Given the description of an element on the screen output the (x, y) to click on. 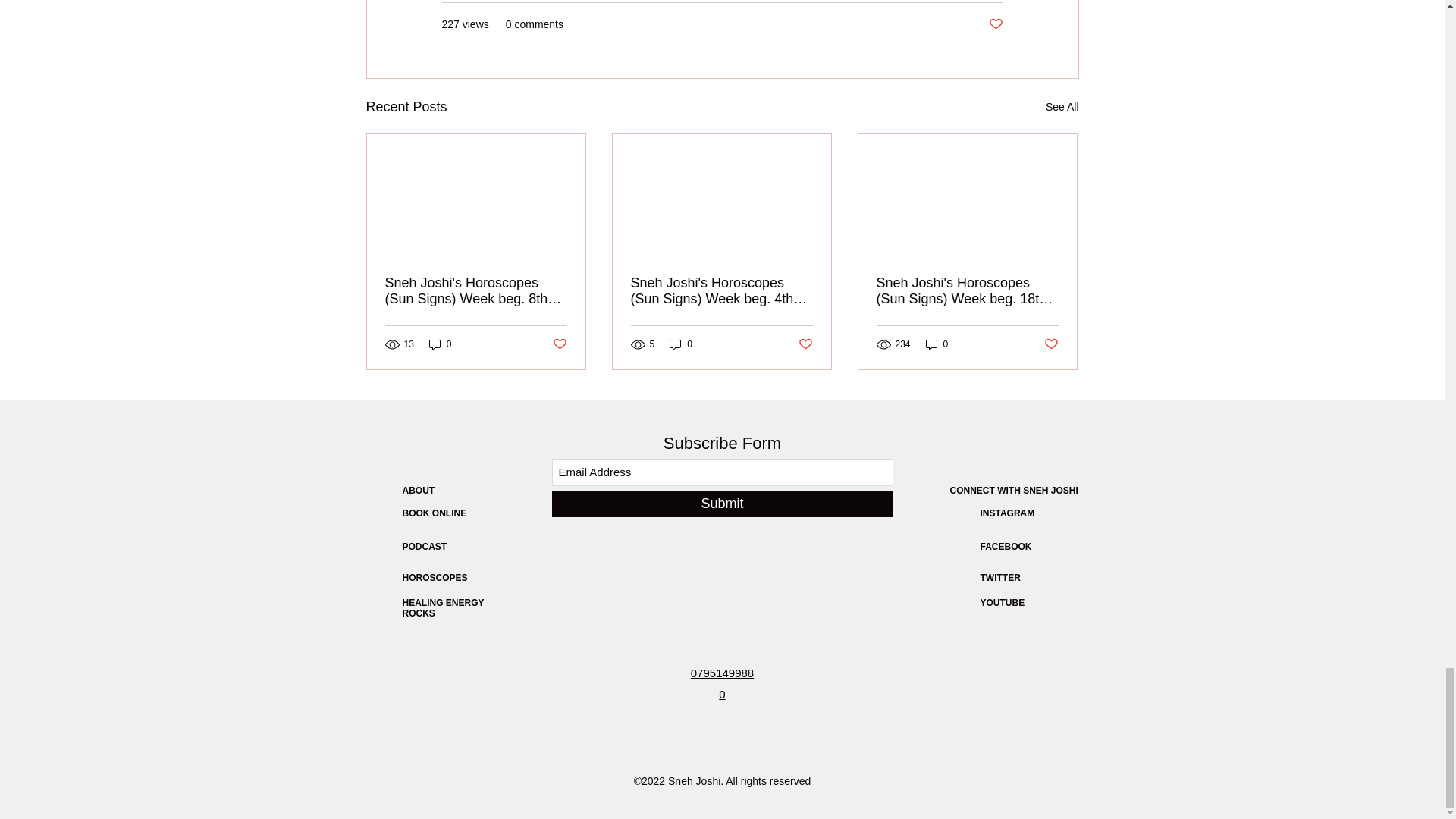
Post not marked as liked (558, 344)
0 (681, 344)
Post not marked as liked (995, 24)
Post not marked as liked (804, 344)
See All (1061, 106)
0 (440, 344)
